Given the description of an element on the screen output the (x, y) to click on. 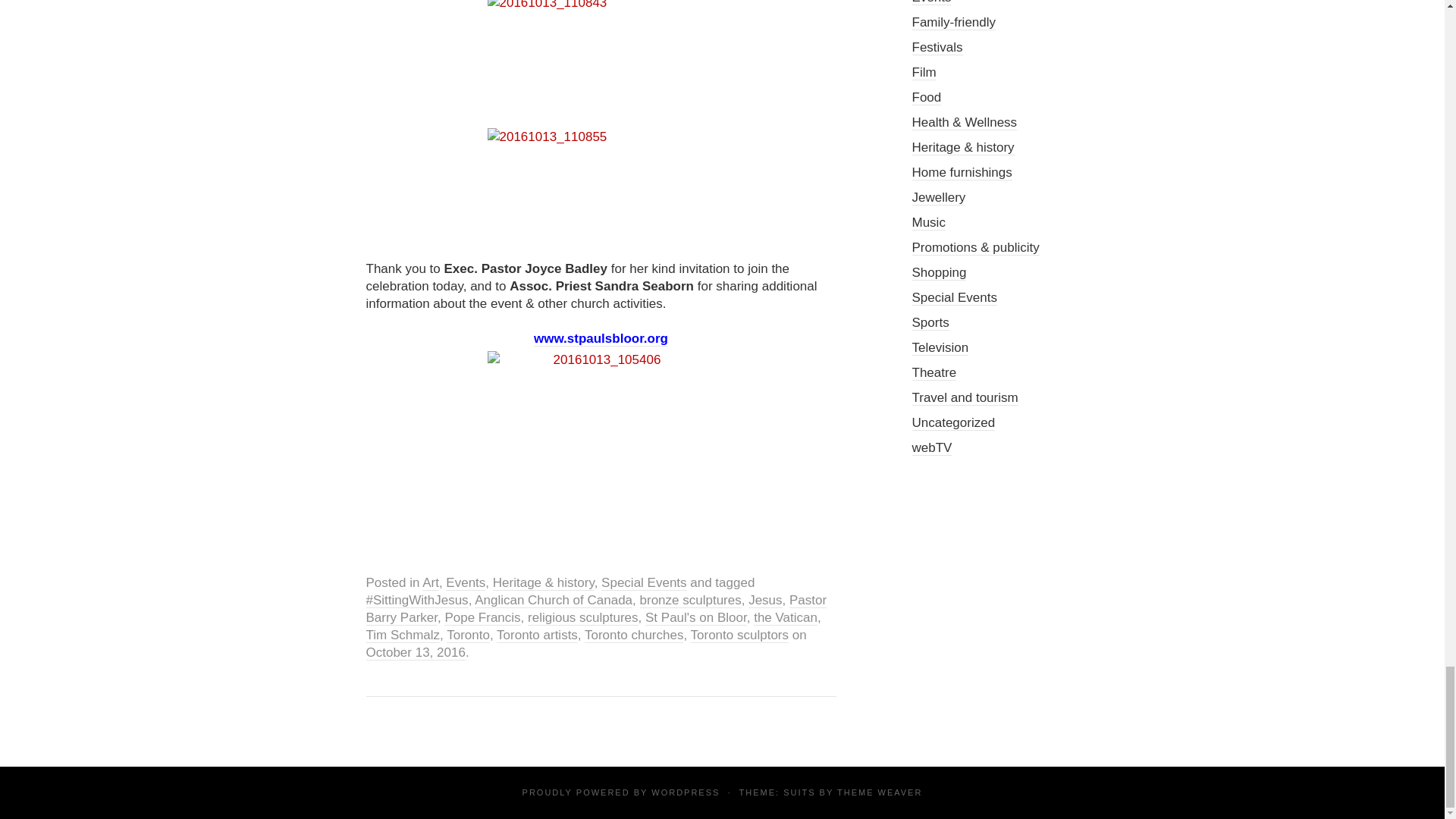
www.stpaulsbloor.org (601, 338)
the Vatican (785, 617)
Semantic Personal Publishing Platform (684, 791)
Toronto (467, 635)
Jesus (764, 600)
Pope Francis (481, 617)
Special Events (643, 582)
Toronto churches (633, 635)
Tim Schmalz (402, 635)
Toronto artists (537, 635)
religious sculptures (583, 617)
Anglican Church of Canada (552, 600)
Pastor Barry Parker (596, 608)
Events (464, 582)
Art (430, 582)
